Given the description of an element on the screen output the (x, y) to click on. 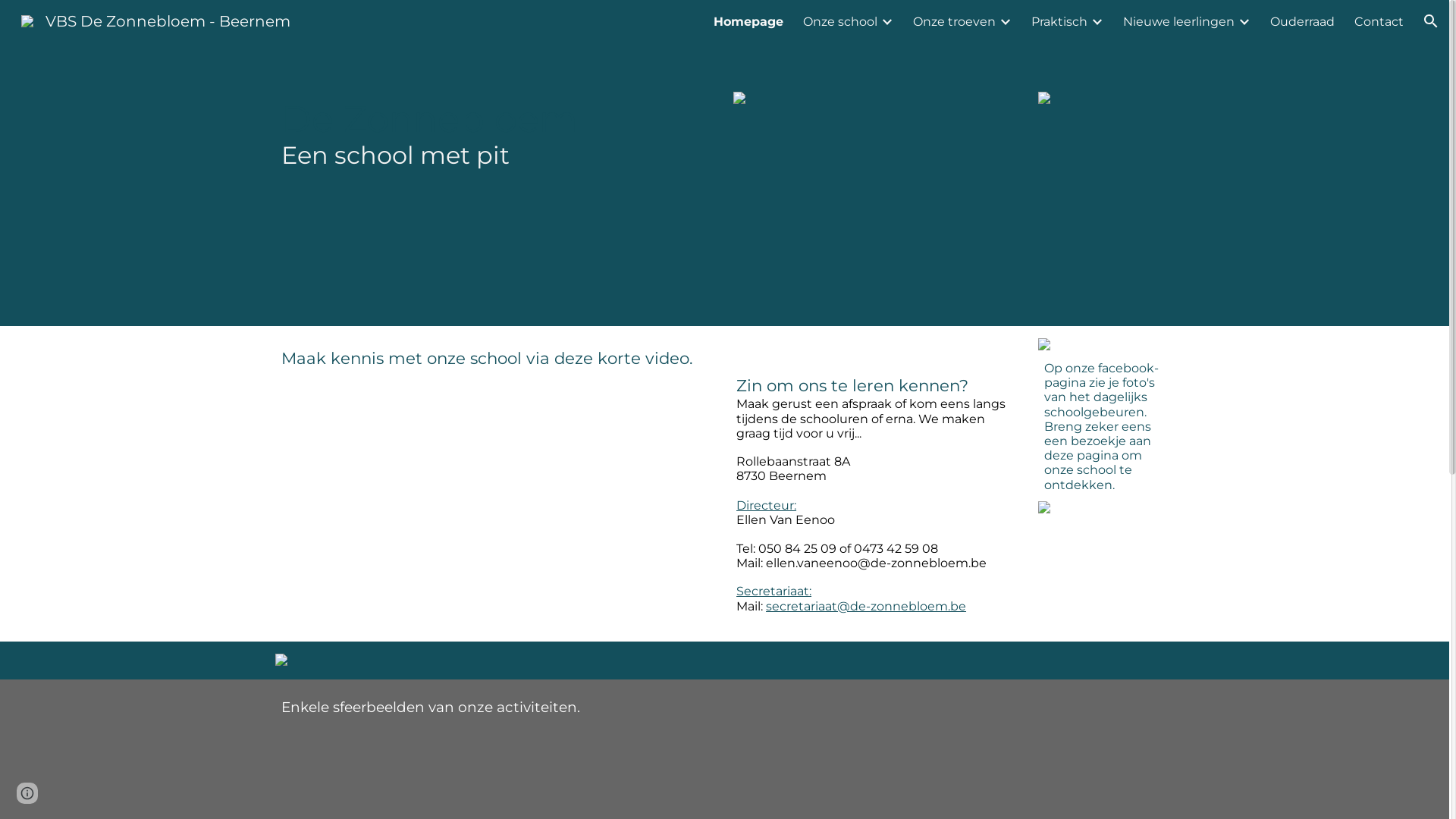
Contact Element type: text (1378, 20)
Onze school Element type: text (840, 20)
secretariaat@de-zonnebloem.be Element type: text (865, 606)
Onze troeven Element type: text (954, 20)
Expand/Collapse Element type: hover (1004, 20)
Ouderraad Element type: text (1302, 20)
Expand/Collapse Element type: hover (886, 20)
Praktisch Element type: text (1059, 20)
Homepage Element type: text (748, 20)
Nieuwe leerlingen Element type: text (1178, 20)
Expand/Collapse Element type: hover (1243, 20)
VBS De Zonnebloem - Beernem Element type: text (155, 19)
Expand/Collapse Element type: hover (1096, 20)
